Given the description of an element on the screen output the (x, y) to click on. 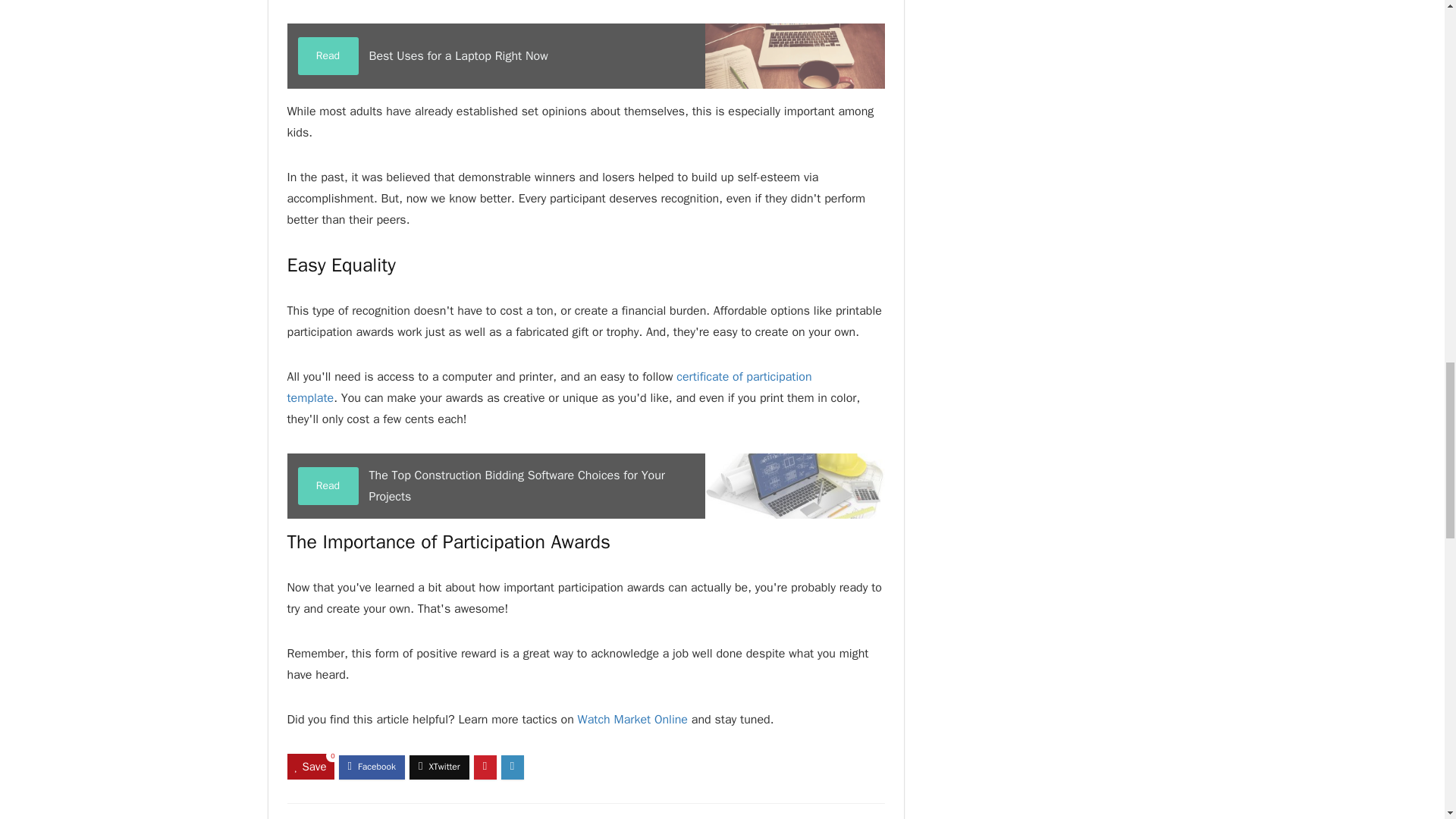
certificate of participation template (548, 387)
Watch Market Online (584, 55)
